Given the description of an element on the screen output the (x, y) to click on. 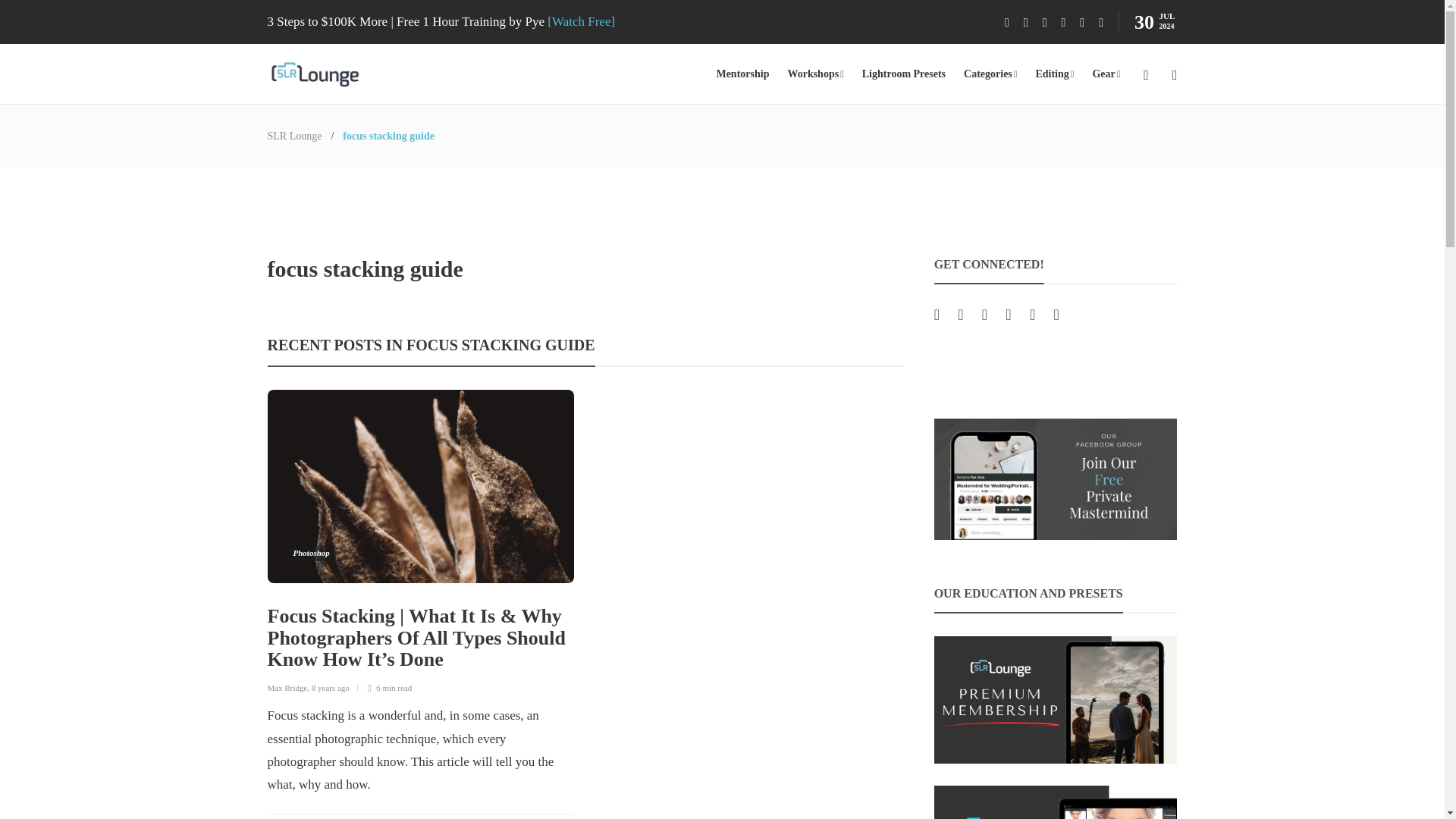
SLR Lounge (293, 135)
